Given the description of an element on the screen output the (x, y) to click on. 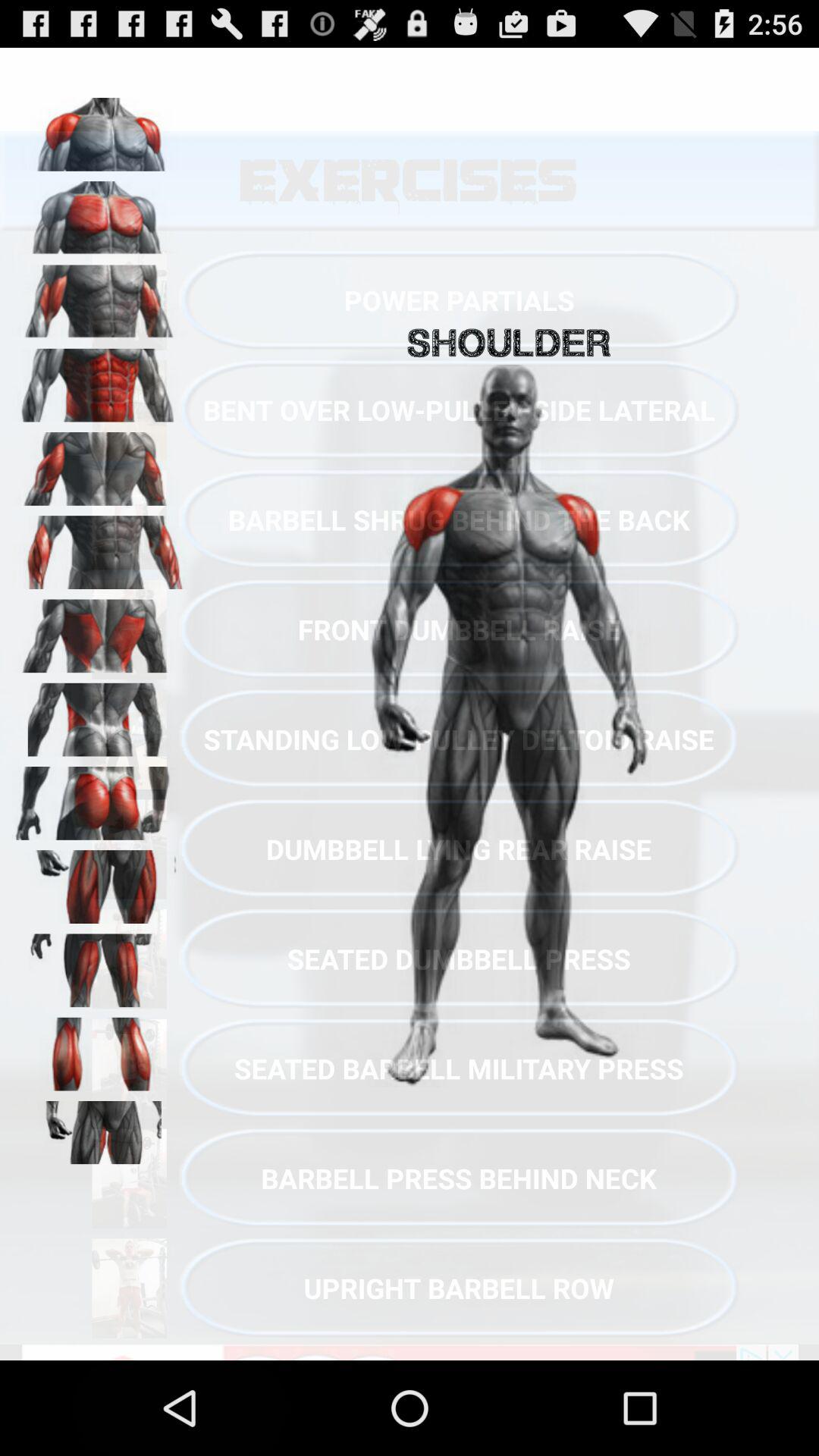
leg (99, 881)
